Given the description of an element on the screen output the (x, y) to click on. 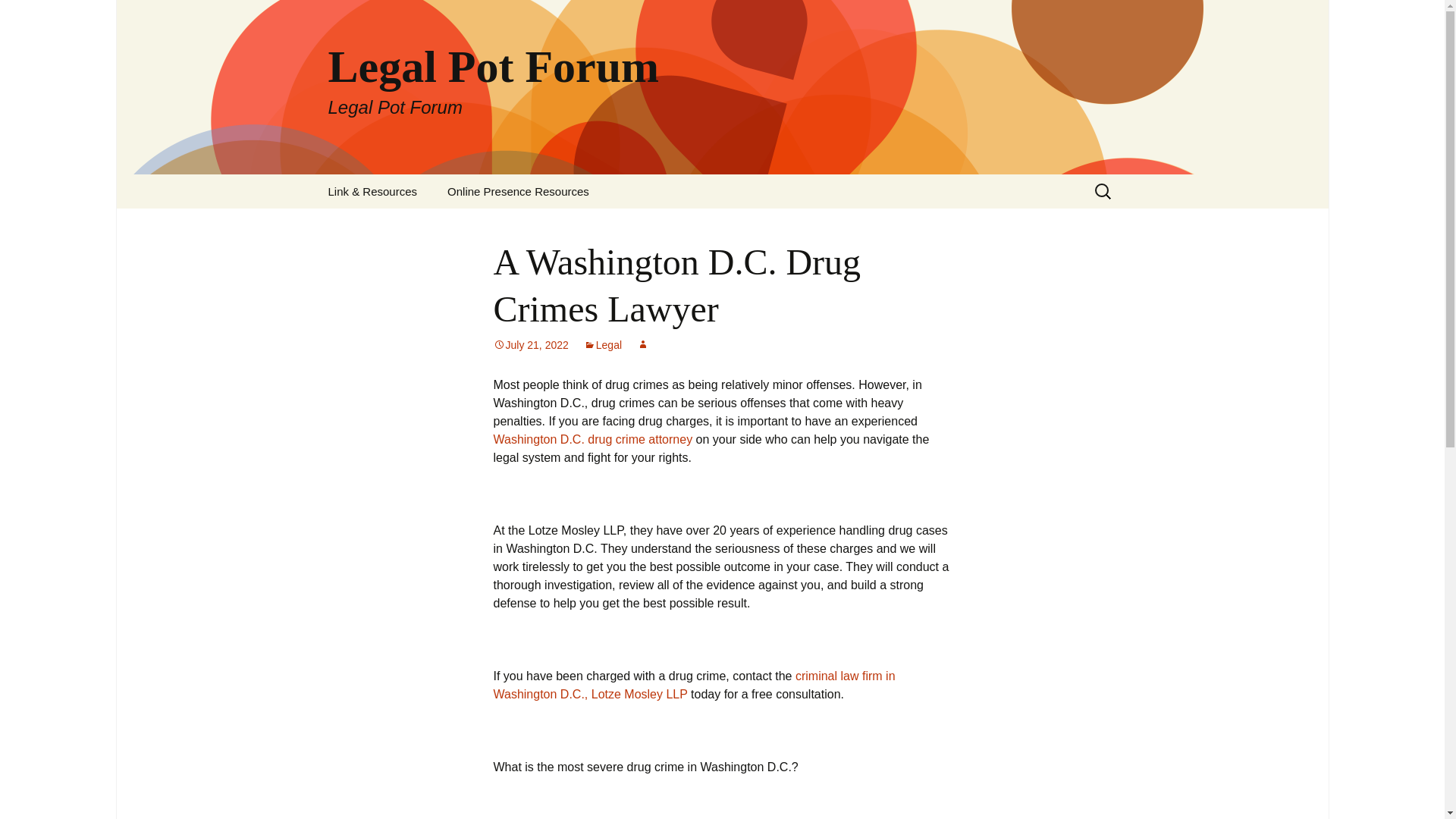
Search (18, 15)
July 21, 2022 (530, 345)
Online Presence Resources (518, 191)
Search for: (1103, 191)
criminal law firm in Washington D.C., Lotze Mosley LLP (694, 685)
View all posts by  (643, 345)
Permalink to A Washington D.C. Drug Crimes Lawyer (530, 345)
Washington D.C. drug crime attorney (602, 345)
